Given the description of an element on the screen output the (x, y) to click on. 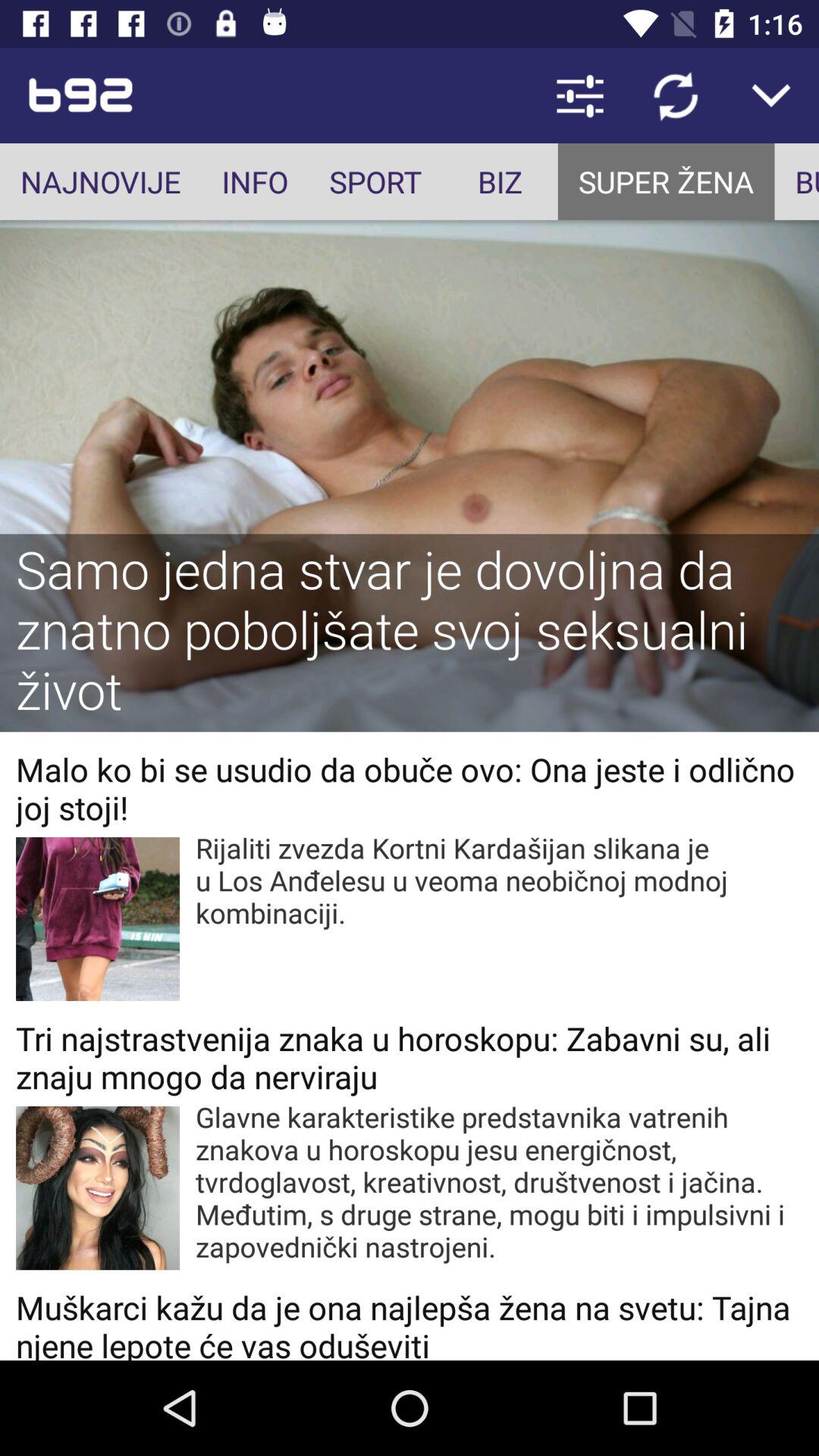
select app below najnovije app (409, 632)
